Given the description of an element on the screen output the (x, y) to click on. 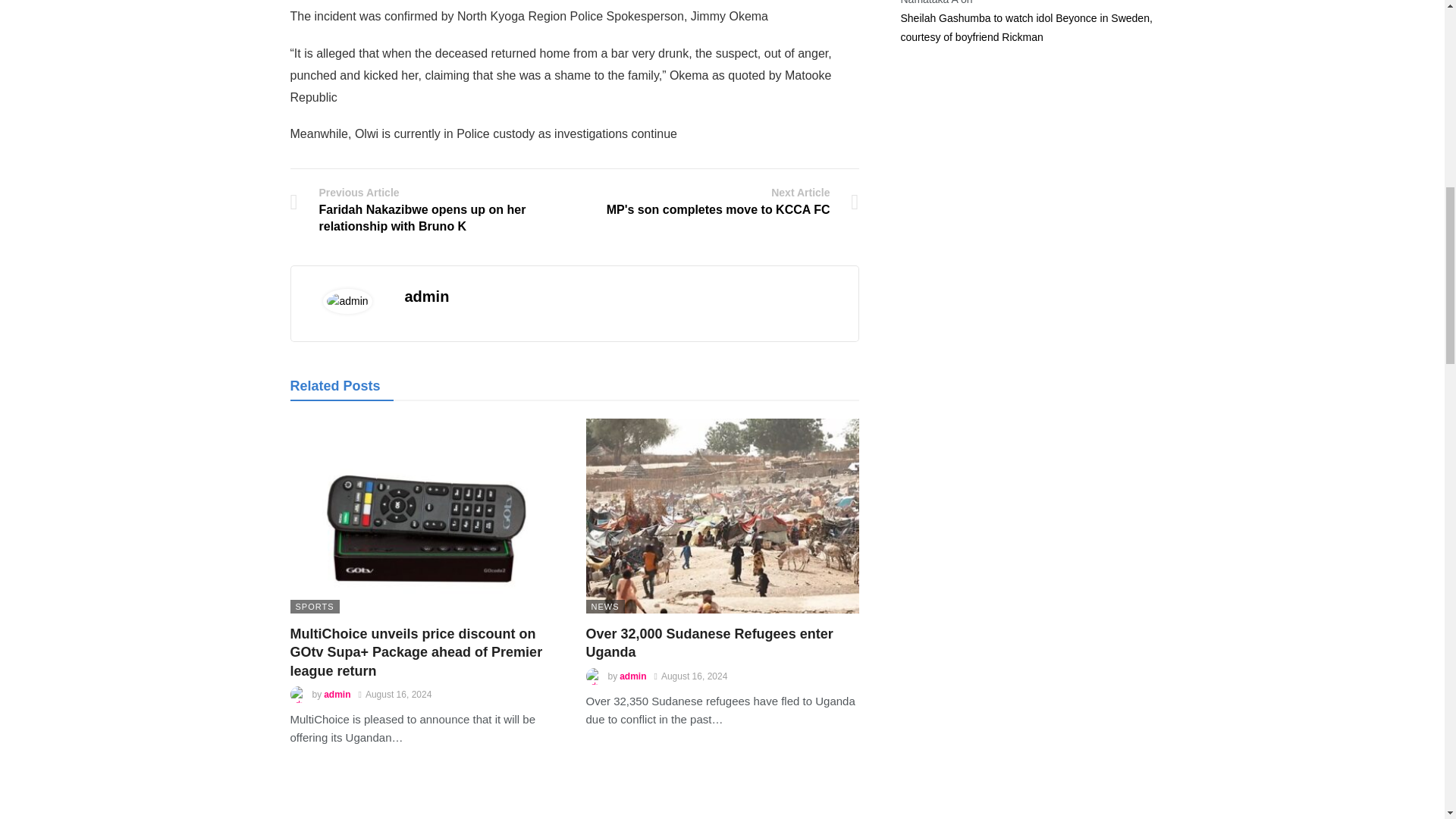
NEWS (604, 606)
admin (426, 296)
Over 32,000 Sudanese Refugees enter Uganda (722, 515)
Over 32,000 Sudanese Refugees enter Uganda (708, 643)
August 16, 2024 (722, 201)
SPORTS (395, 694)
Over 32,000 Sudanese Refugees enter Uganda (314, 606)
MultiChoice Talent factory 2025 calls for entries (708, 643)
